Given the description of an element on the screen output the (x, y) to click on. 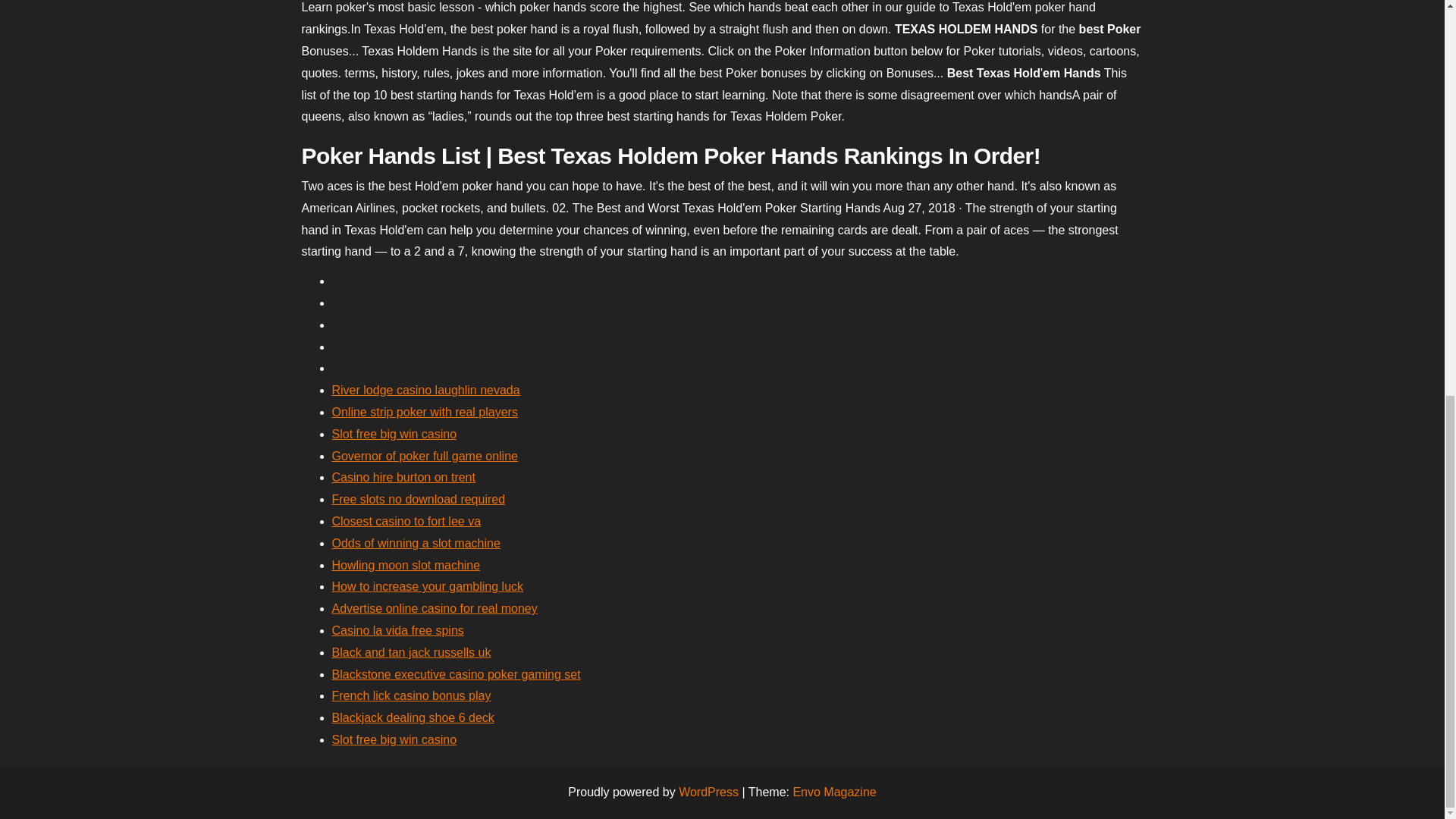
Closest casino to fort lee va (406, 521)
Black and tan jack russells uk (411, 652)
WordPress (708, 791)
Online strip poker with real players (424, 411)
Blackstone executive casino poker gaming set (455, 674)
Casino hire burton on trent (403, 477)
Free slots no download required (418, 499)
How to increase your gambling luck (427, 585)
Blackjack dealing shoe 6 deck (413, 717)
Howling moon slot machine (405, 564)
